Given the description of an element on the screen output the (x, y) to click on. 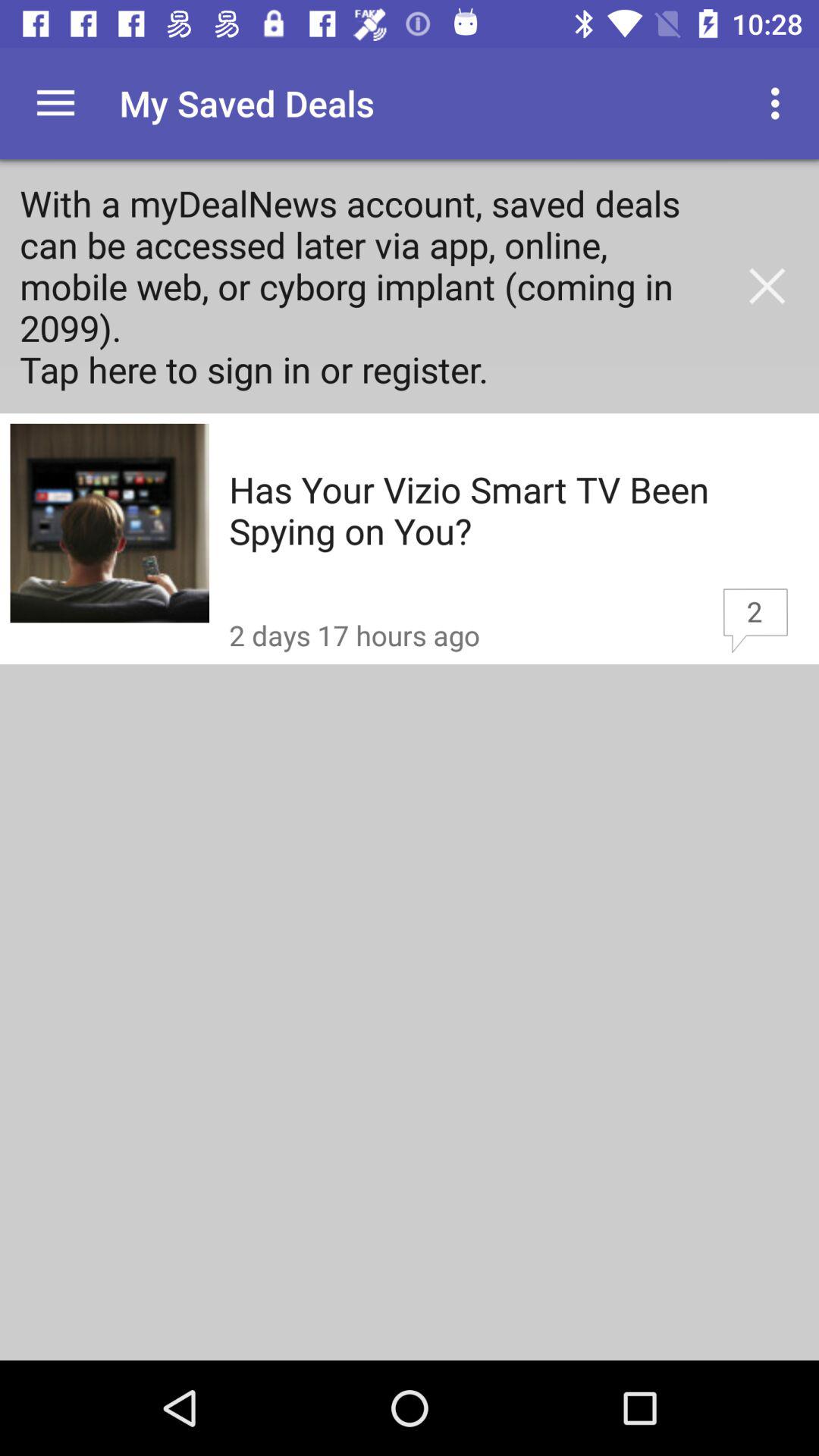
launch the item next to my saved deals app (55, 103)
